Given the description of an element on the screen output the (x, y) to click on. 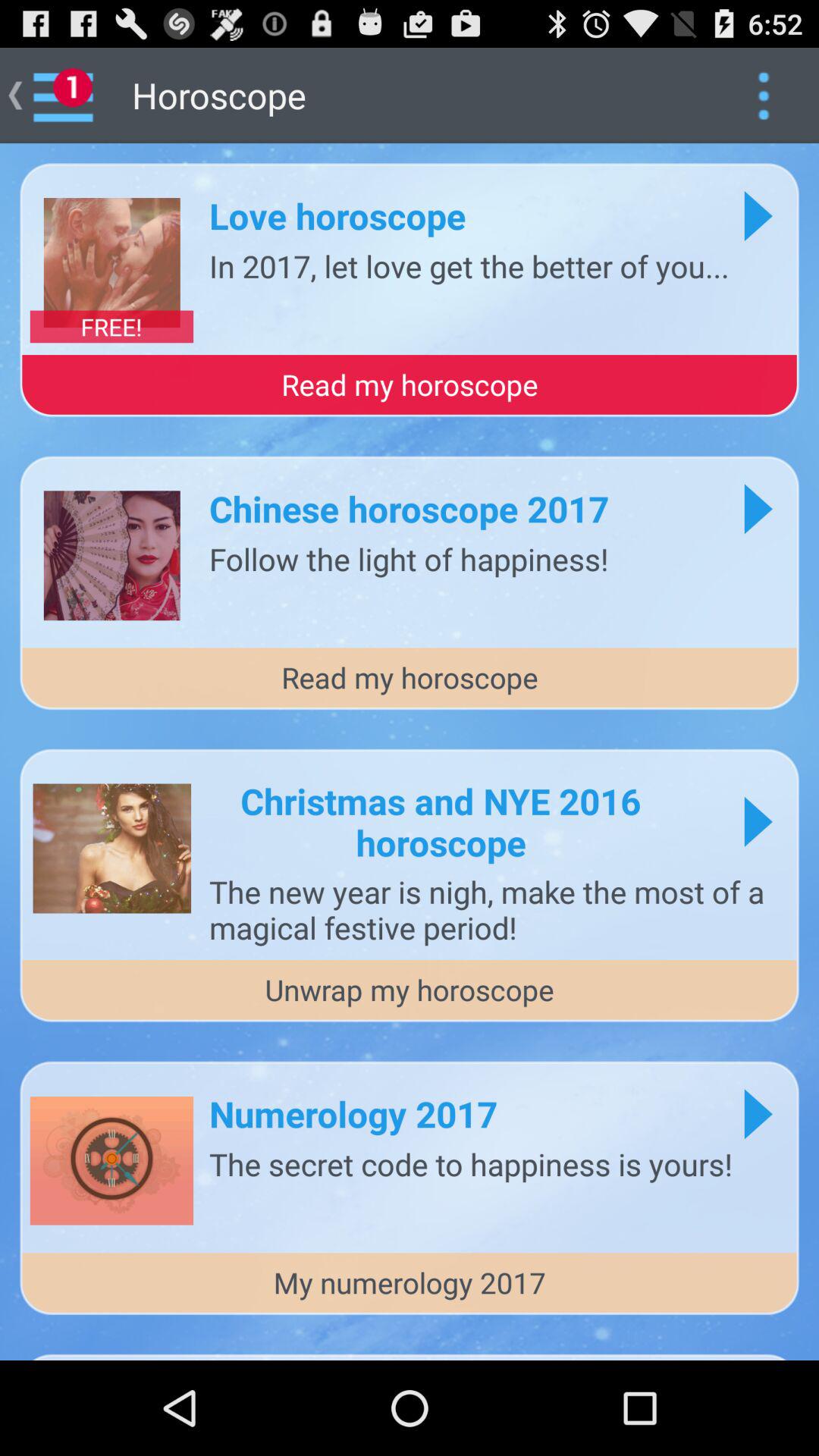
press the icon below the the new year icon (409, 989)
